Given the description of an element on the screen output the (x, y) to click on. 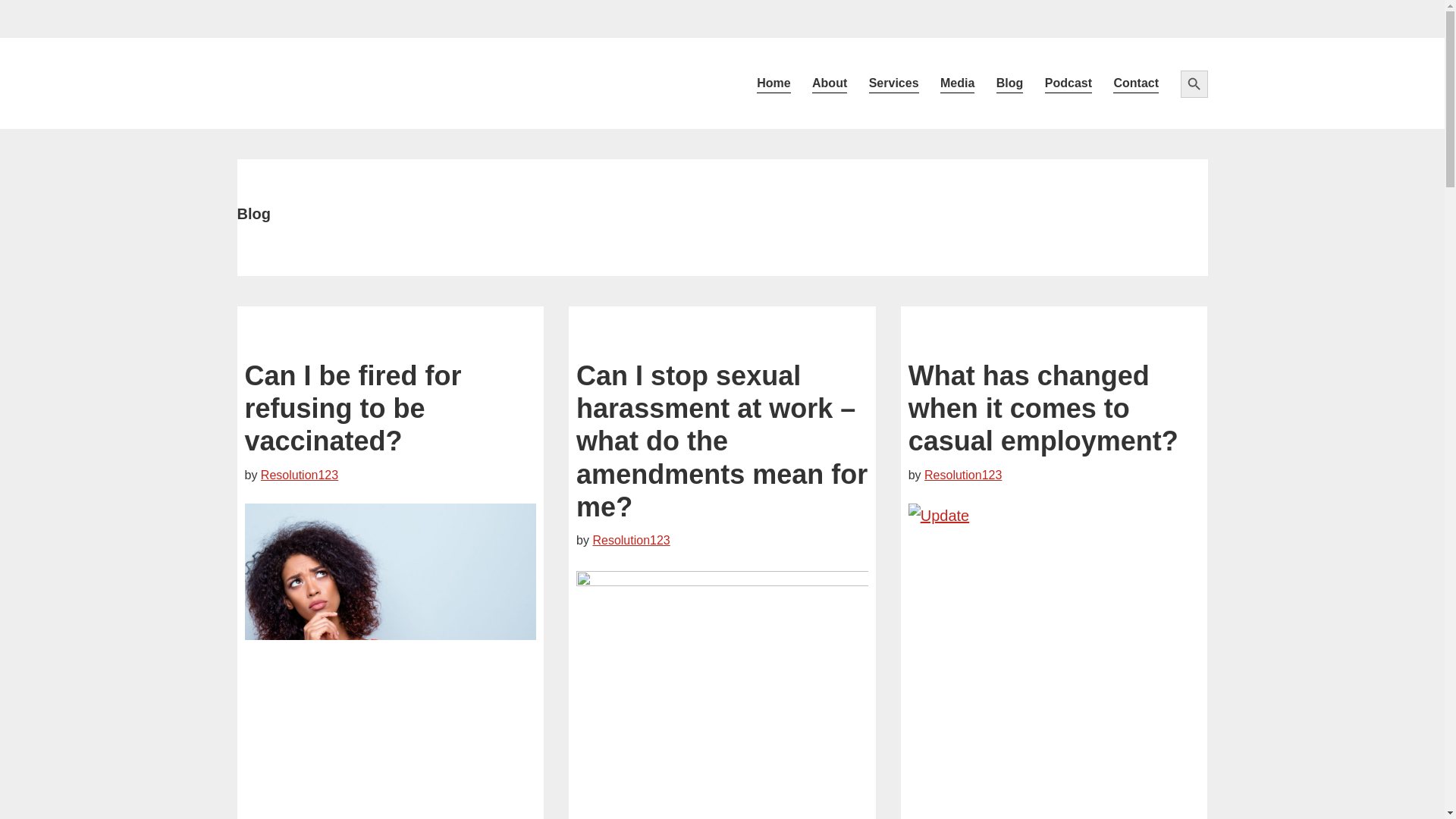
Services (894, 83)
What has changed when it comes to casual employment? (1042, 408)
Podcast (1067, 83)
Resolution123 (630, 540)
Resolution123 (962, 474)
Contact (1135, 83)
Search Button (1193, 83)
Resolution123 (362, 83)
Can I be fired for refusing to be vaccinated? (352, 408)
Resolution123 (298, 474)
